Given the description of an element on the screen output the (x, y) to click on. 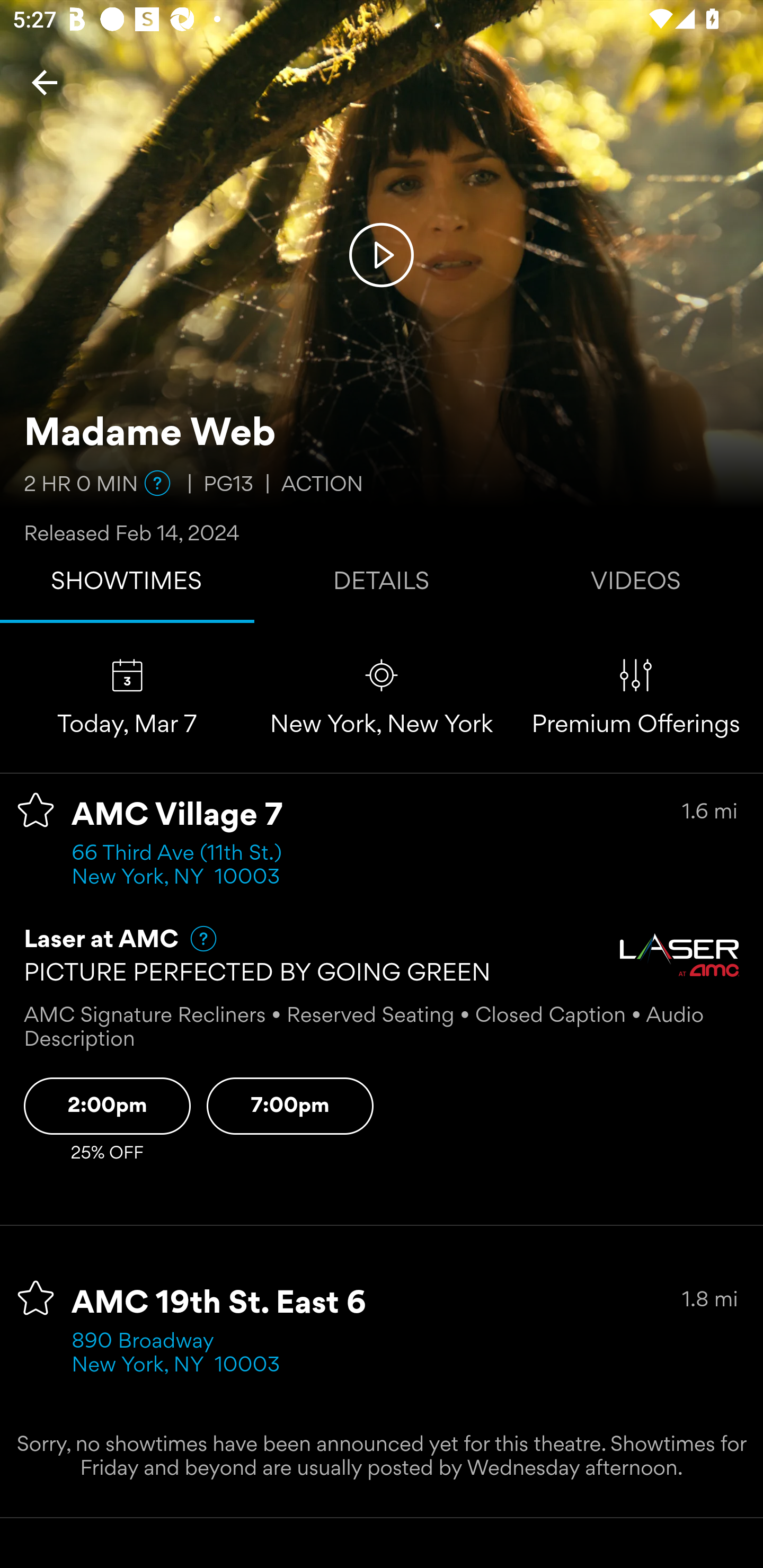
Back (44, 82)
Play (381, 254)
Help (157, 482)
SHOWTIMES
Tab 1 of 3 (127, 584)
DETAILS
Tab 2 of 3 (381, 584)
VIDEOS
Tab 3 of 3 (635, 584)
Change selected day
Today, Mar 7 (127, 697)
Change location
New York, New York (381, 697)
Premium Offerings
Premium Offerings (635, 697)
AMC Village 7 (177, 816)
66 Third Ave (11th St.)  
New York, NY  10003 (182, 866)
Help (195, 938)
AMC Village 7 Laser at AMC 2:00pm Showtime Button (106, 1105)
AMC Village 7 Laser at AMC 7:00pm Showtime Button (289, 1105)
AMC 19th St. East 6 (219, 1303)
890 Broadway  
New York, NY  10003 (176, 1353)
